Given the description of an element on the screen output the (x, y) to click on. 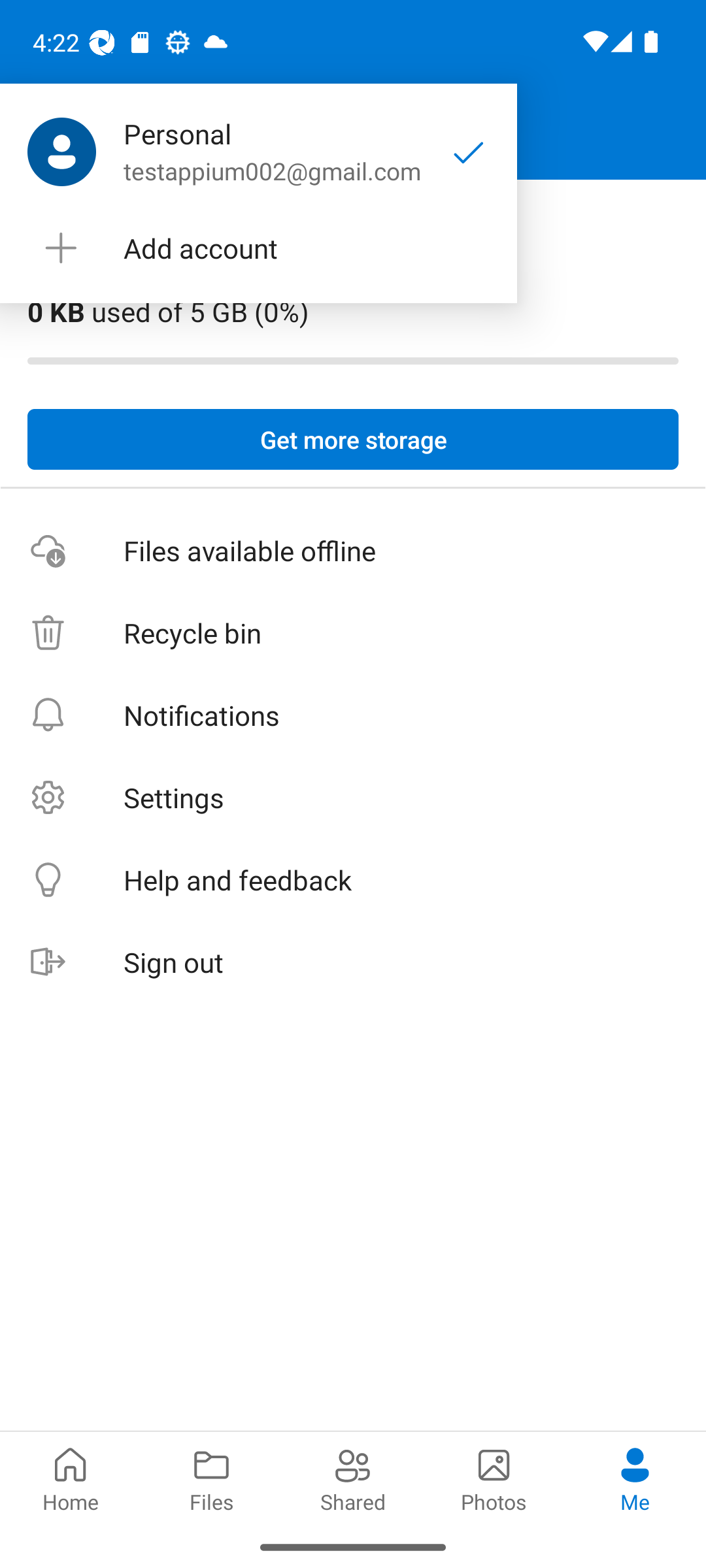
Personal testappium002@gmail.com Checked (258, 151)
Checked (468, 151)
Add account button Add account (258, 248)
